Given the description of an element on the screen output the (x, y) to click on. 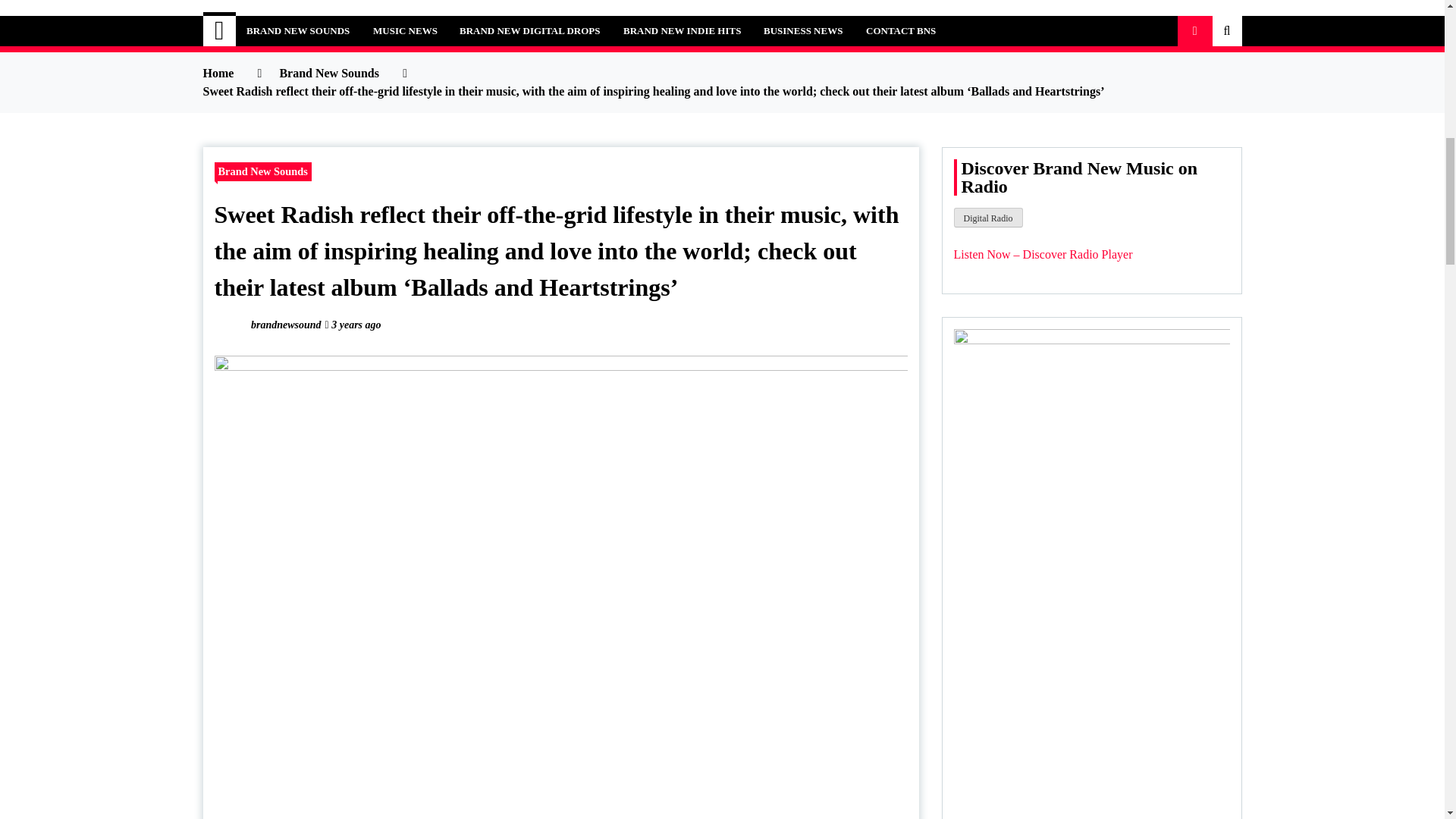
BRAND NEW SOUND (379, 22)
BUSINESS NEWS (802, 30)
BRAND NEW INDIE HITS (681, 30)
Digital Radio (988, 217)
MUSIC NEWS (404, 30)
BRAND NEW DIGITAL DROPS (529, 30)
Home (219, 30)
CONTACT BNS (900, 30)
BRAND NEW SOUNDS (297, 30)
